Given the description of an element on the screen output the (x, y) to click on. 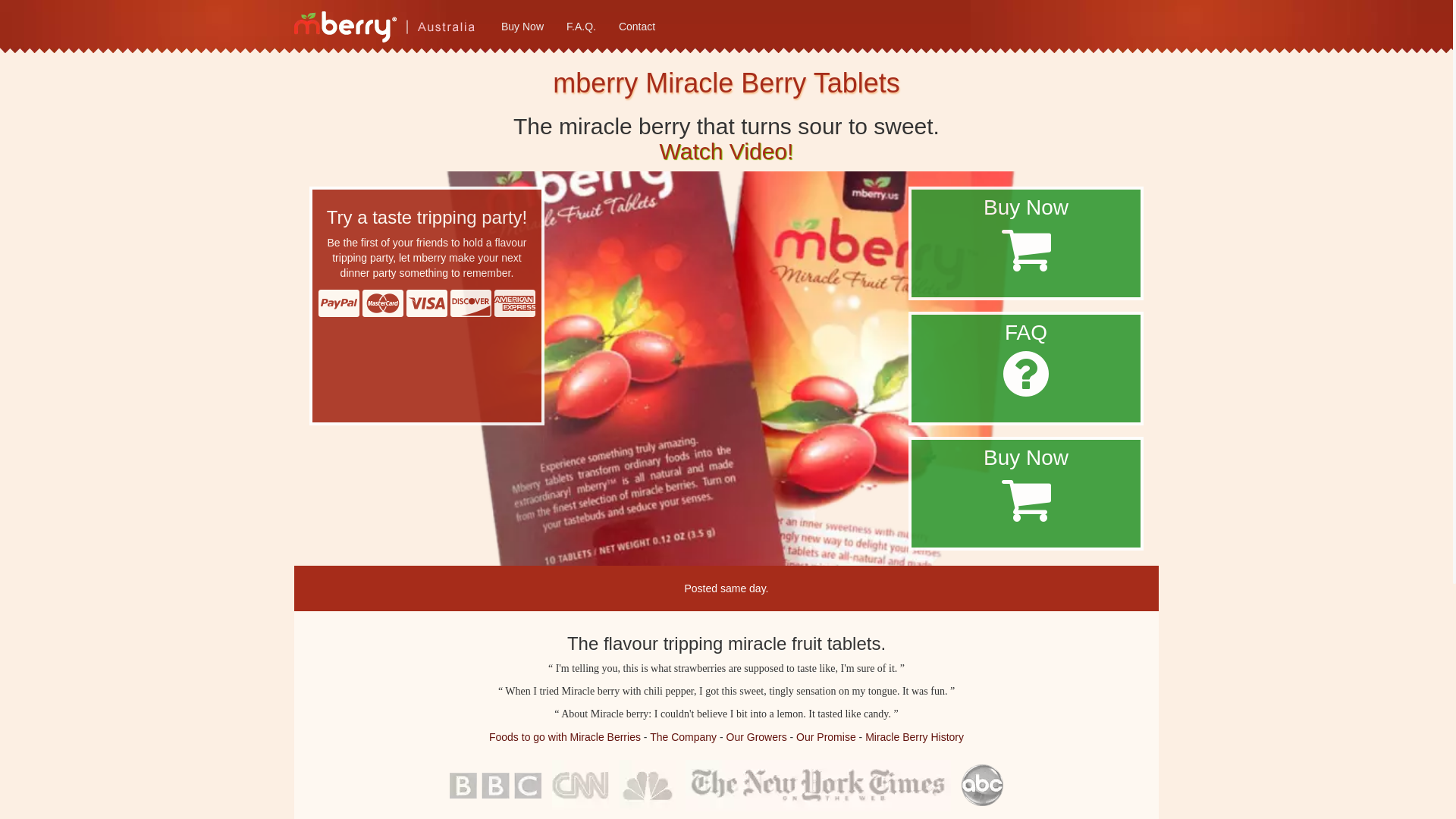
Our Growers Element type: text (756, 737)
F.A.Q. Element type: text (581, 26)
Miracle Berry History Element type: text (914, 737)
Our Promise Element type: text (826, 737)
The Company Element type: text (682, 737)
Foods to go with Miracle Berries Element type: text (564, 737)
Buy Now Element type: text (522, 26)
Contact Element type: text (636, 26)
